Given the description of an element on the screen output the (x, y) to click on. 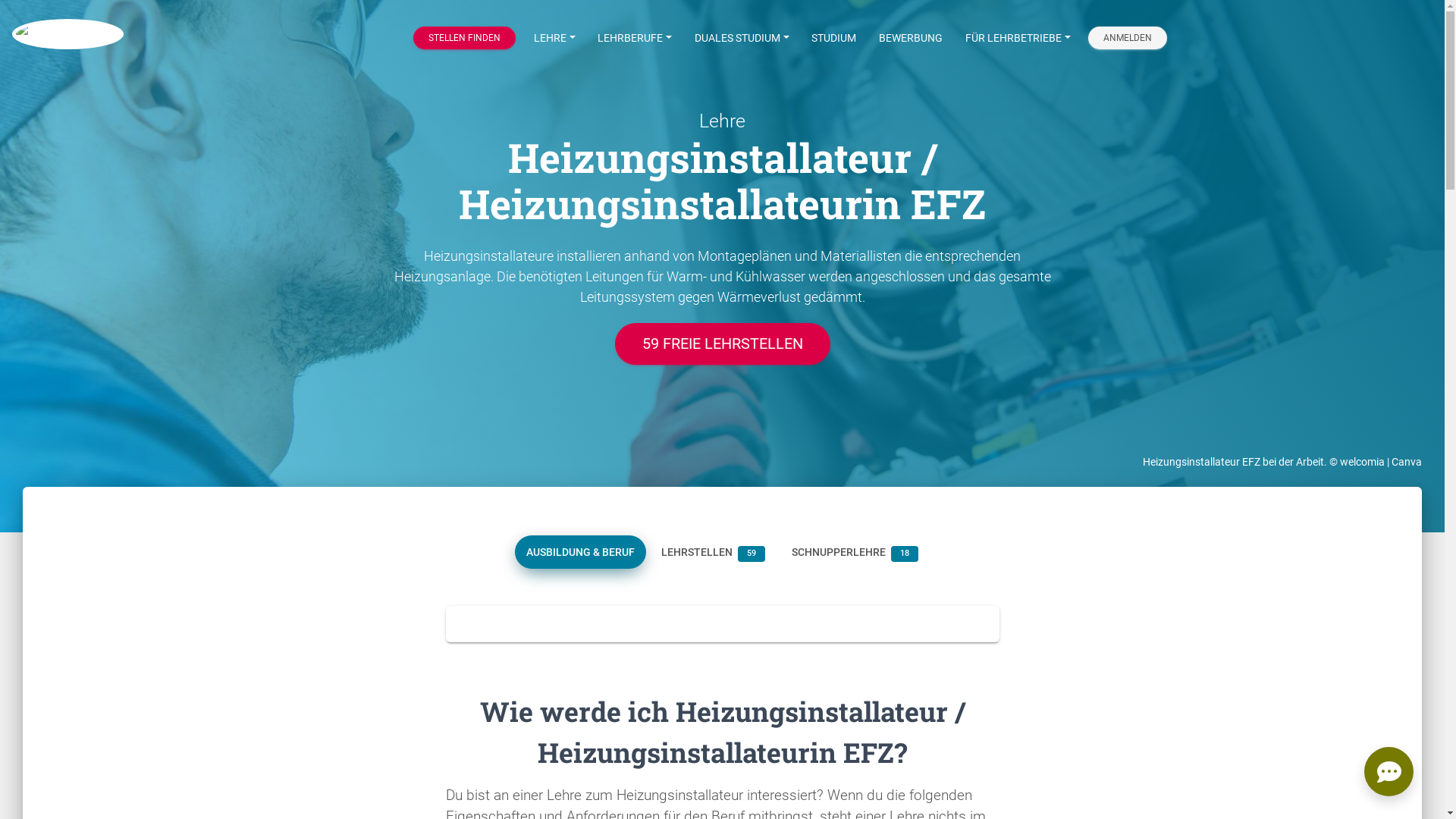
LEHRSTELLEN 59 Element type: text (712, 552)
BEWERBUNG Element type: text (910, 37)
Startseite Element type: hover (67, 37)
AUSBILDUNG & BERUF Element type: text (580, 551)
LEHRBERUFE Element type: text (634, 37)
59 FREIE LEHRSTELLEN Element type: text (721, 343)
DUALES STUDIUM Element type: text (741, 37)
ANMELDEN Element type: text (1127, 37)
LEHRE Element type: text (554, 37)
STUDIUM Element type: text (833, 37)
STELLEN FINDEN Element type: text (464, 37)
SCHNUPPERLEHRE 18 Element type: text (854, 552)
